Given the description of an element on the screen output the (x, y) to click on. 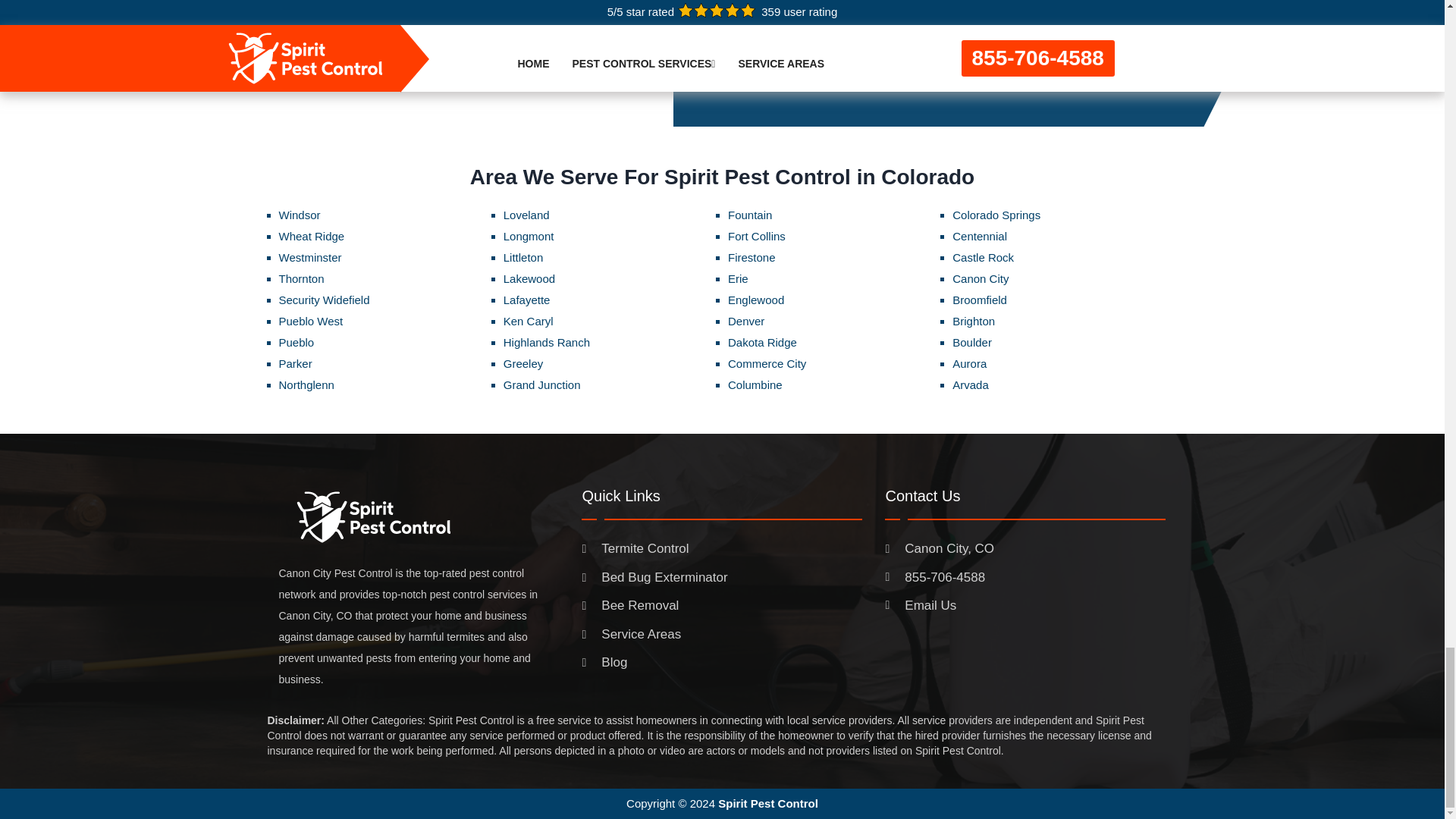
2 (1036, 63)
1 (1005, 63)
4 (1097, 63)
3 (1066, 63)
